Given the description of an element on the screen output the (x, y) to click on. 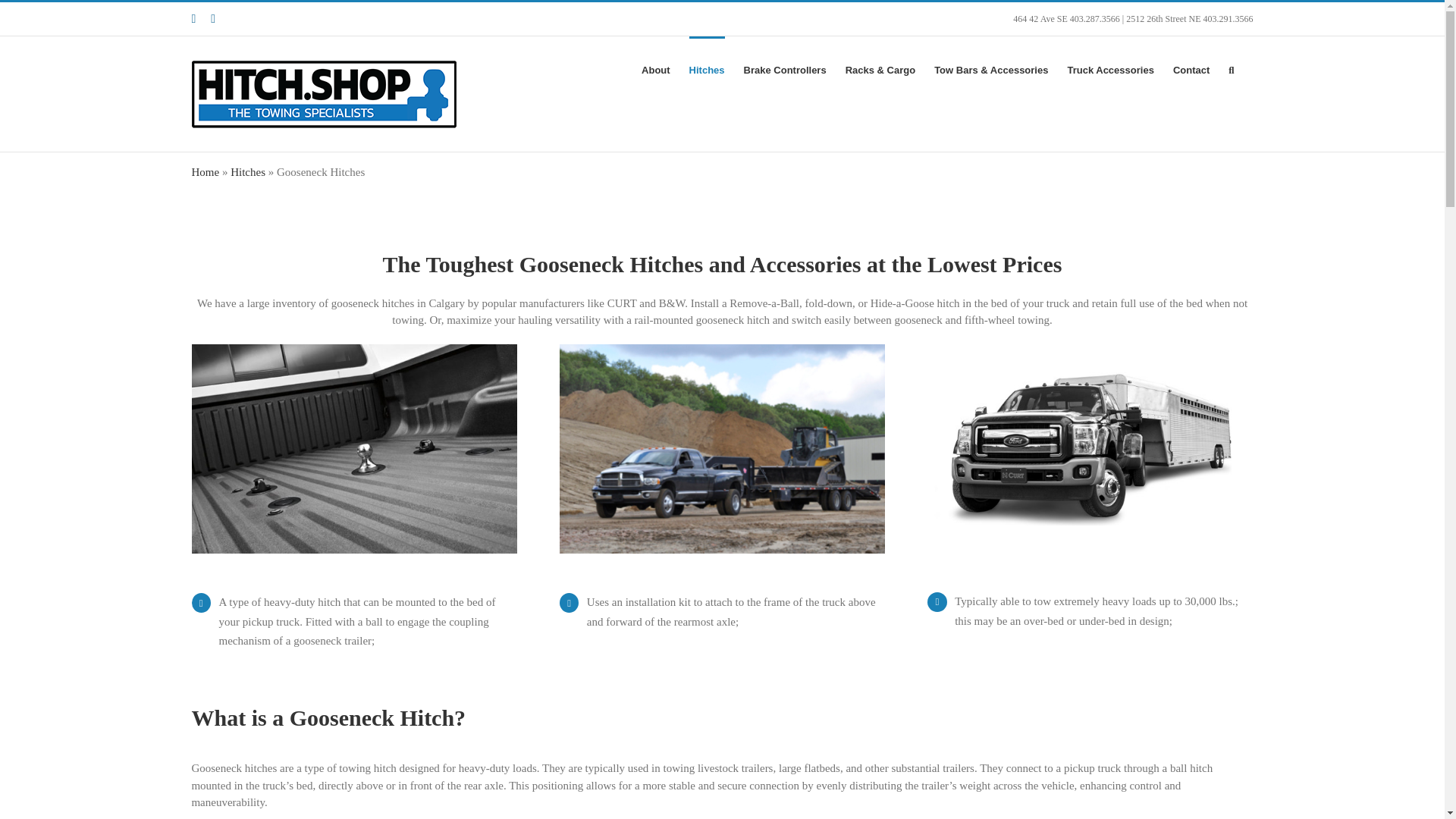
403.291.3566 (1227, 18)
403.287.3566 (1094, 18)
Truck With Gooseneck Hitch and Trailer (722, 448)
2512 26th Street NE (1162, 18)
Truck With Large Gooseneck Hitch and Trailer (1089, 441)
tow bars and towing accessories (991, 68)
Brake Controllers (785, 68)
464 42 Ave SE (1040, 18)
Gooseneck Hitch (353, 448)
Truck Accessories (1110, 68)
